Given the description of an element on the screen output the (x, y) to click on. 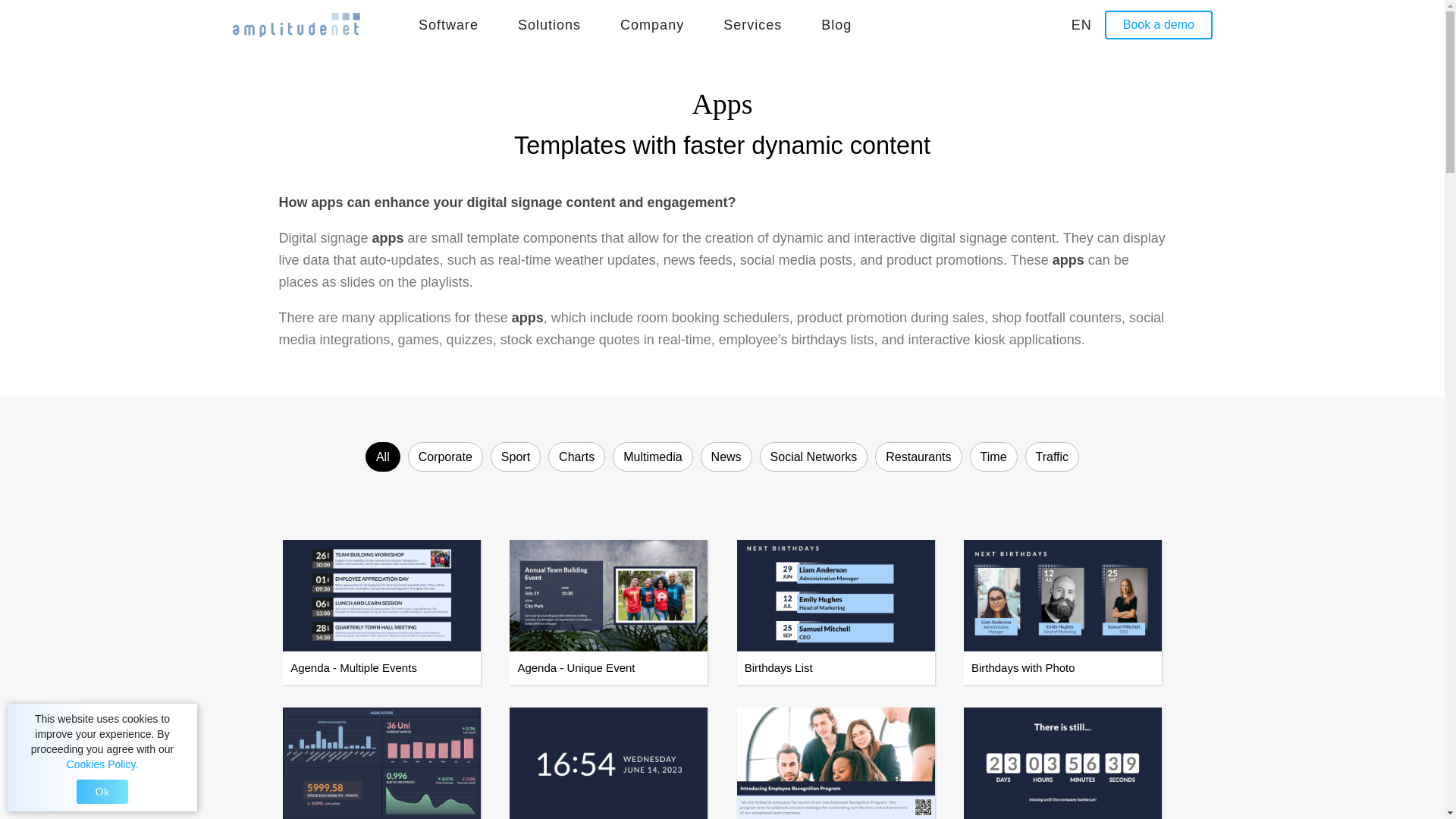
Company (652, 24)
Software (449, 24)
Book a demo (1158, 24)
Blog (836, 24)
EN (1071, 24)
Services (752, 24)
Solutions (549, 24)
